Given the description of an element on the screen output the (x, y) to click on. 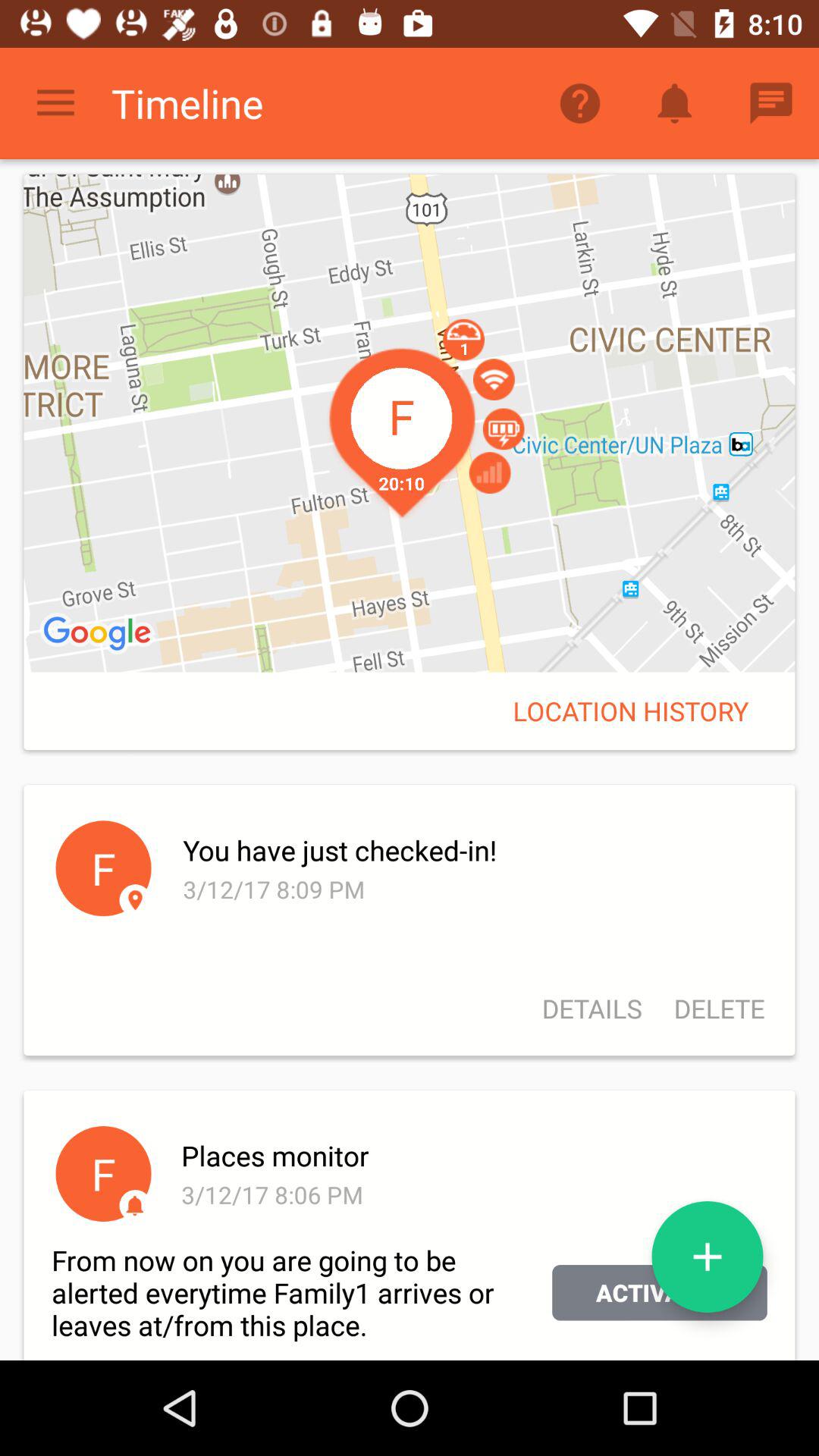
choose icon below places monitor icon (707, 1256)
